Given the description of an element on the screen output the (x, y) to click on. 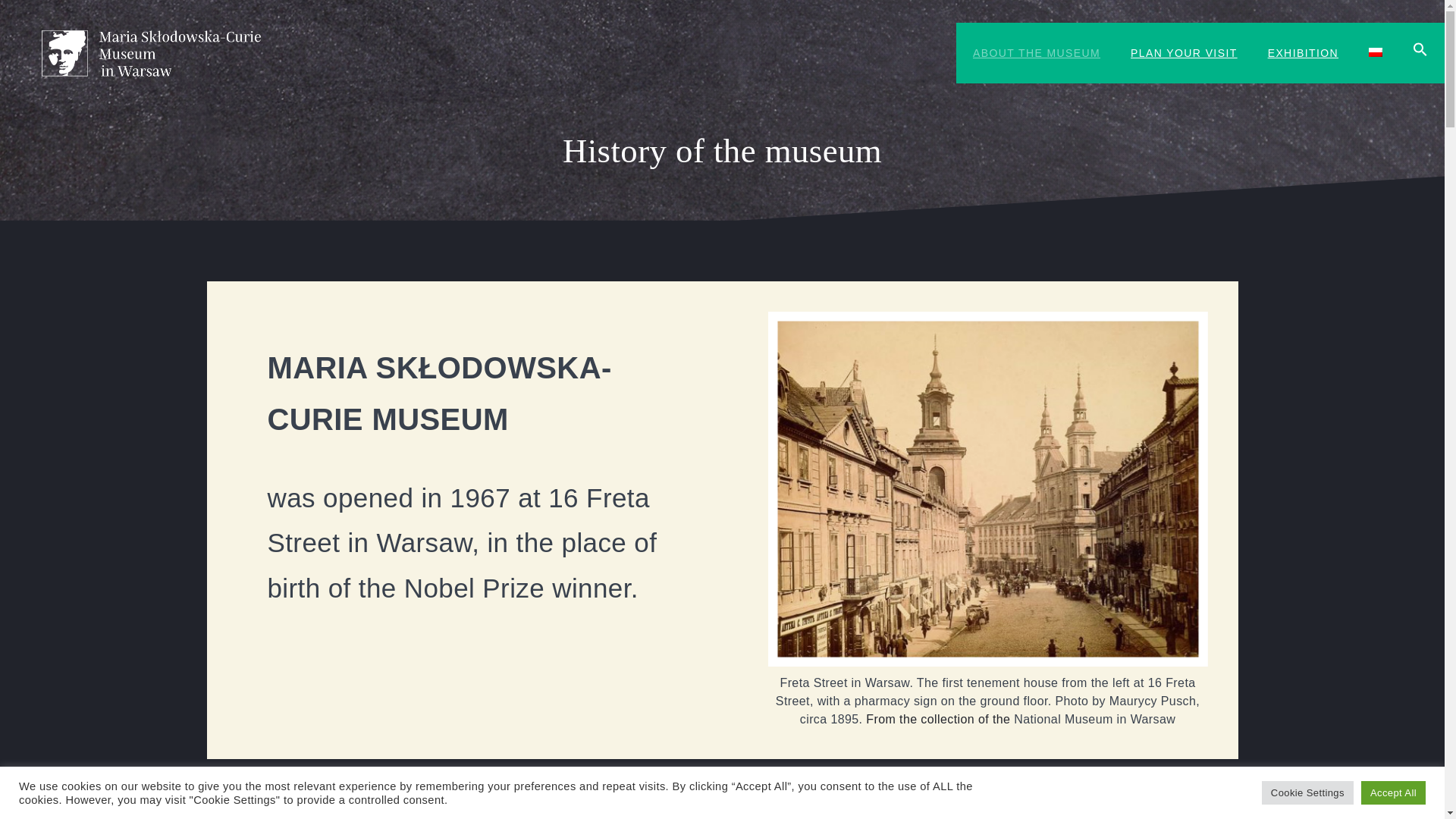
PLAN YOUR VISIT (1183, 52)
Accept All (1393, 792)
Cookie Settings (1308, 792)
EXHIBITION (1303, 52)
ABOUT THE MUSEUM (1036, 52)
